Given the description of an element on the screen output the (x, y) to click on. 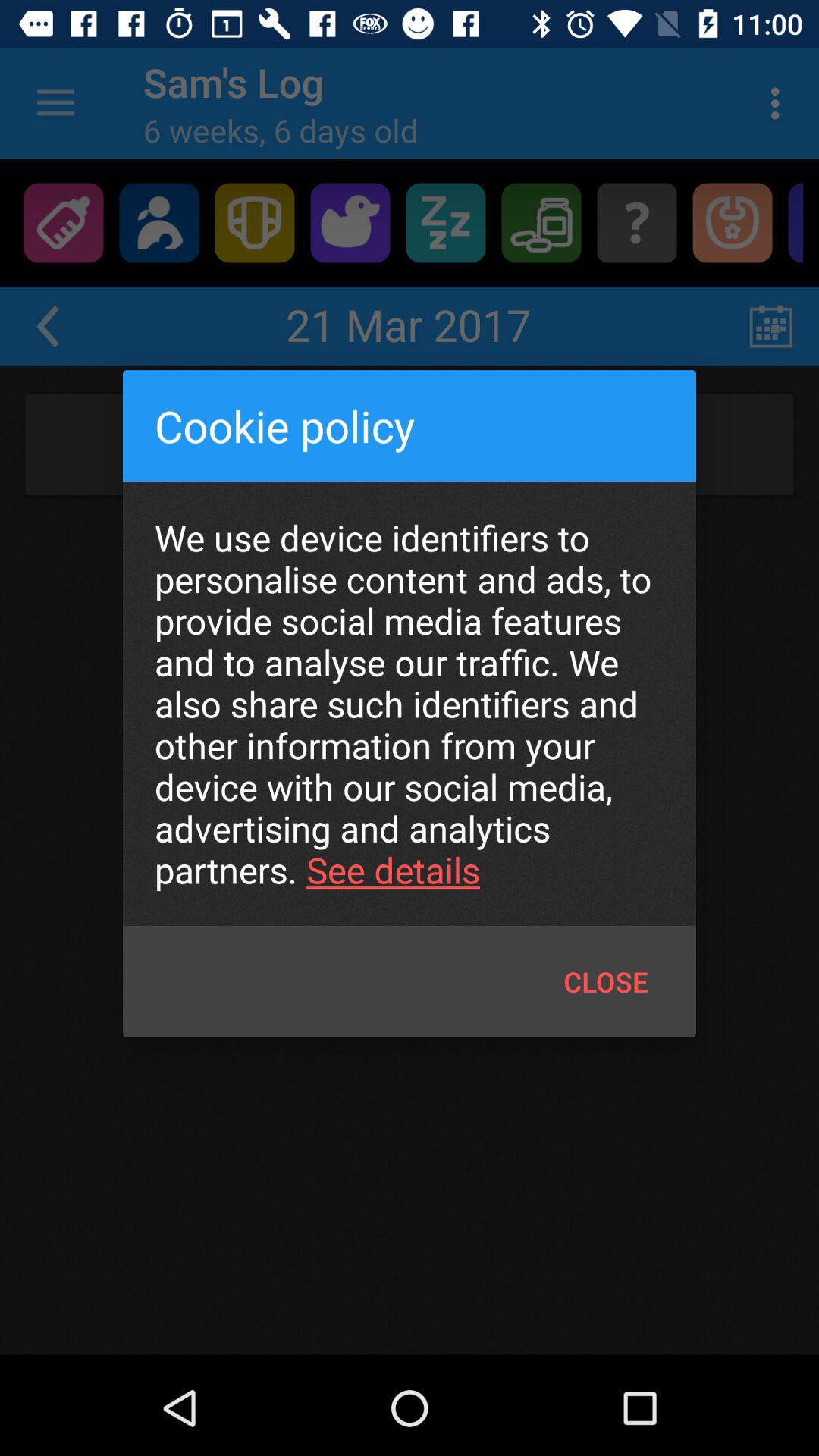
open the item below the cookie policy item (409, 703)
